Given the description of an element on the screen output the (x, y) to click on. 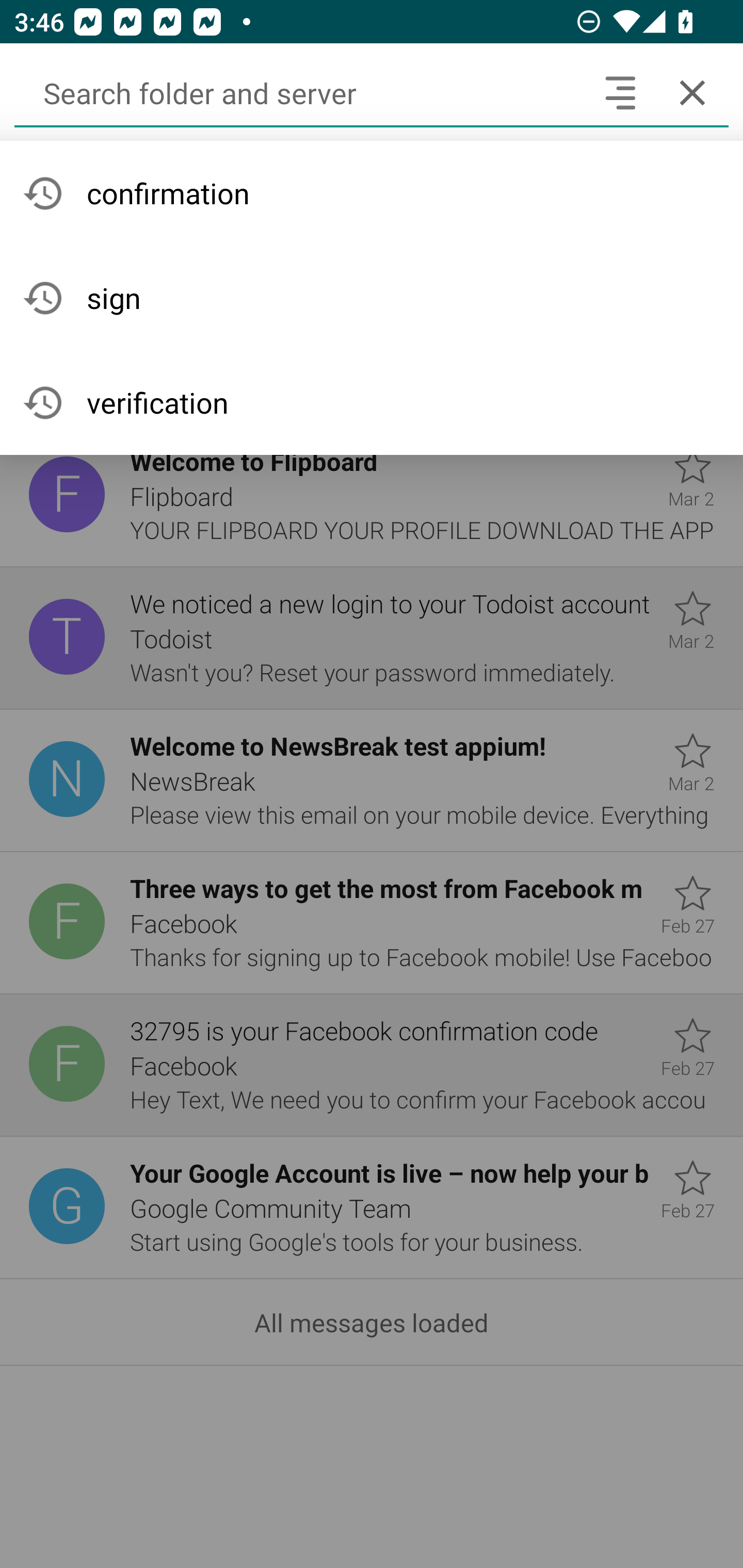
   Search folder and server (298, 92)
Search headers and text (619, 92)
Cancel (692, 92)
